Given the description of an element on the screen output the (x, y) to click on. 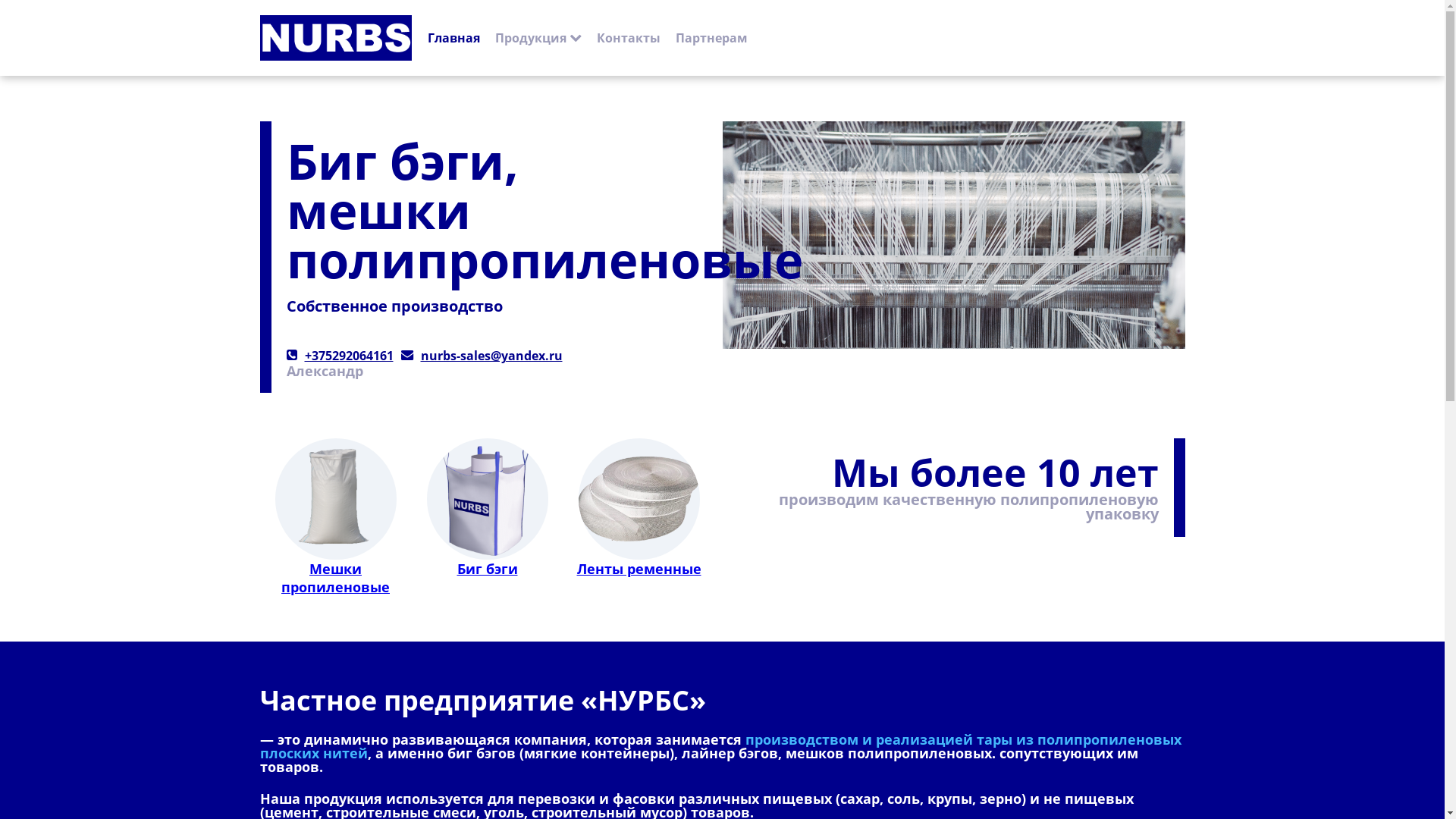
nurbs-sales@yandex.ru Element type: text (490, 355)
+375292064161 Element type: text (348, 355)
